Given the description of an element on the screen output the (x, y) to click on. 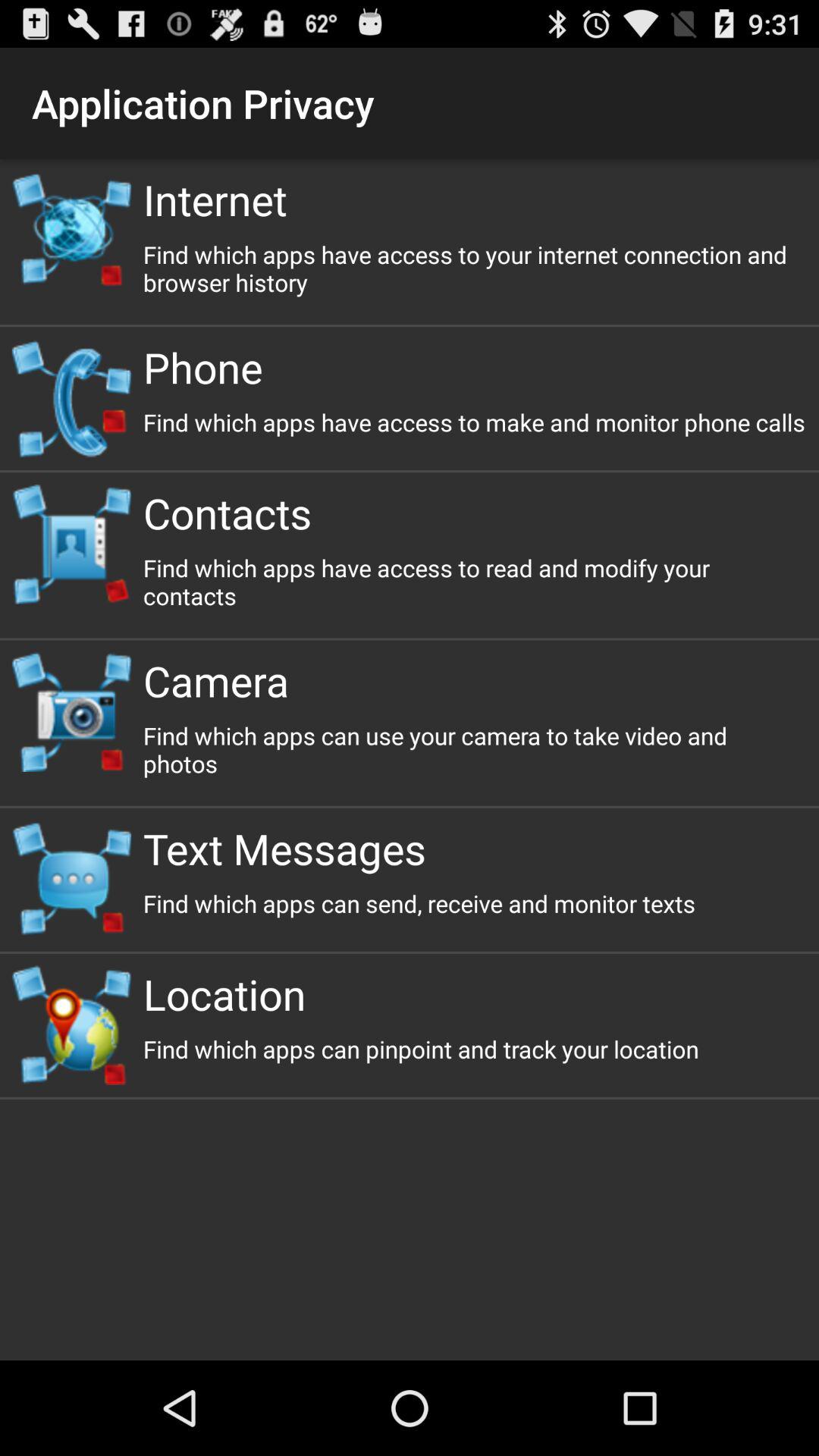
turn on the item below find which apps (475, 848)
